Given the description of an element on the screen output the (x, y) to click on. 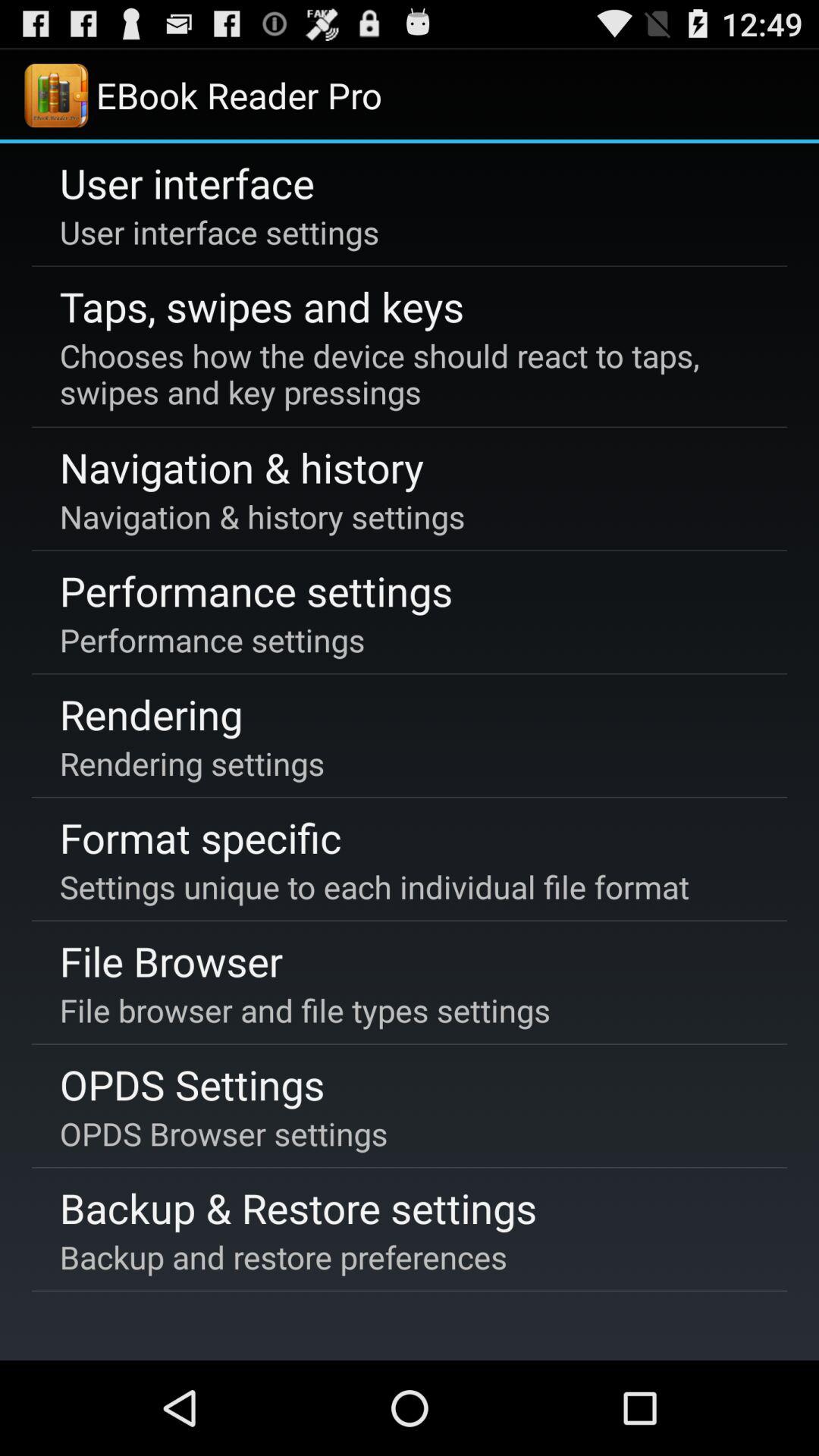
select the icon above the file browser item (374, 886)
